Given the description of an element on the screen output the (x, y) to click on. 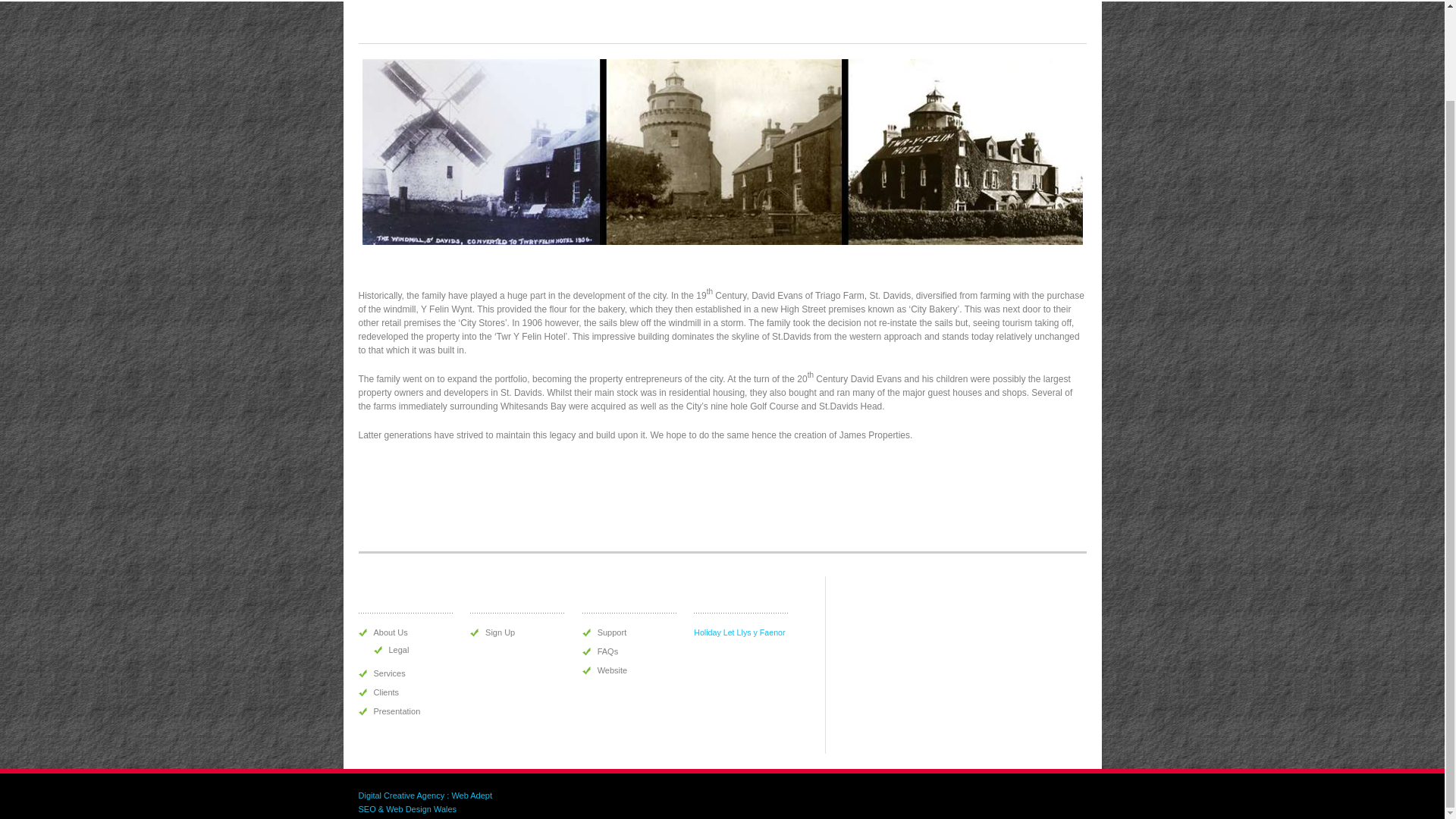
Clients (385, 691)
About Us (389, 632)
Llys y Faenor (761, 632)
Digital Creative Agency : Web Adept (425, 795)
Legal (398, 649)
Presentation (396, 710)
Website (611, 669)
Services (388, 673)
Holiday Let (713, 632)
Sign Up (499, 632)
FAQs (607, 651)
Support (611, 632)
